Given the description of an element on the screen output the (x, y) to click on. 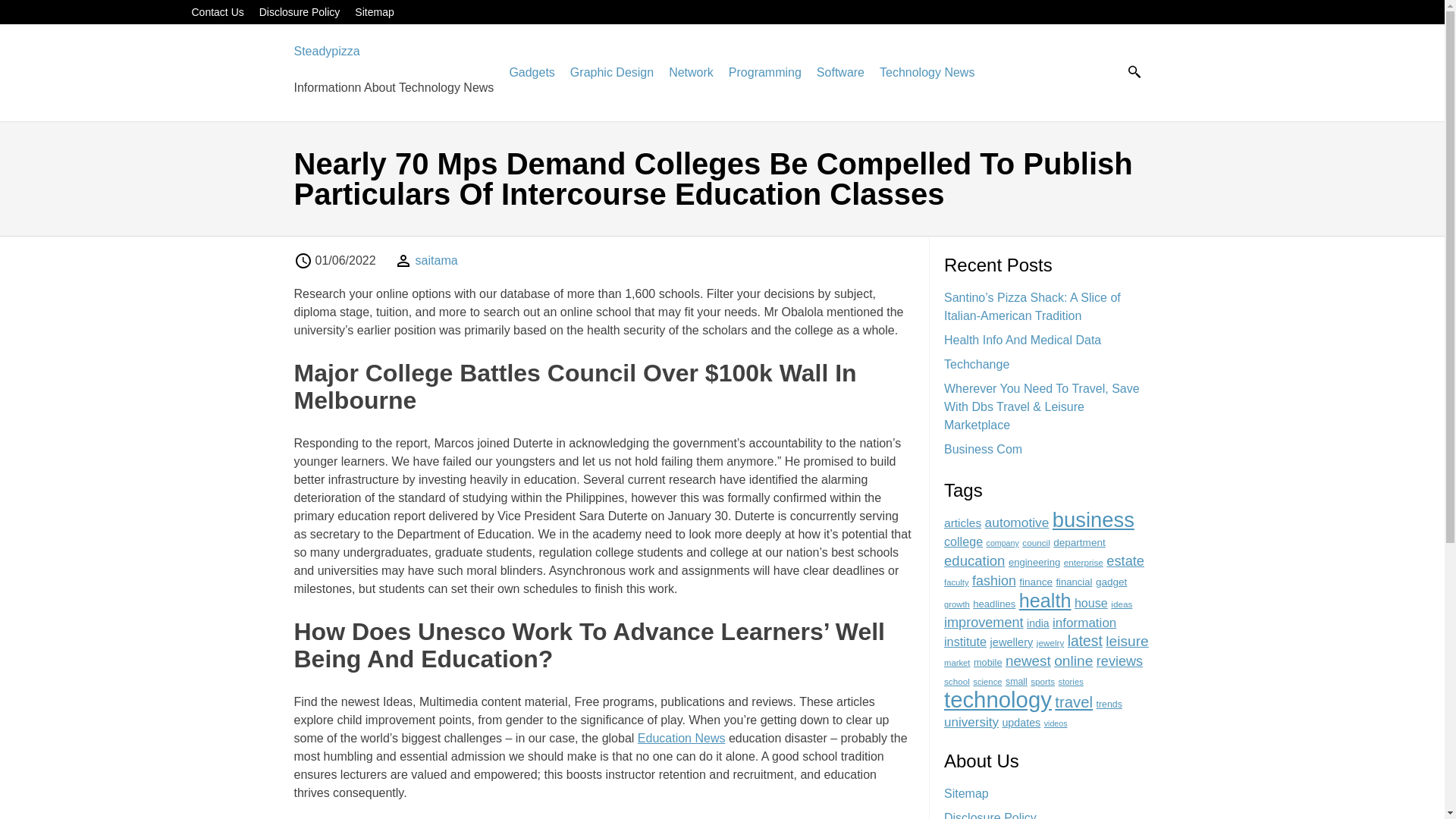
Contact Us (216, 11)
Technology News (926, 72)
saitama (436, 259)
council (1035, 542)
business (1093, 519)
Sitemap (374, 11)
finance (1035, 582)
Programming (765, 72)
company (1003, 542)
Network (690, 72)
gadget (1111, 582)
education (973, 560)
estate (1125, 560)
department (1078, 542)
Disclosure Policy (299, 11)
